Given the description of an element on the screen output the (x, y) to click on. 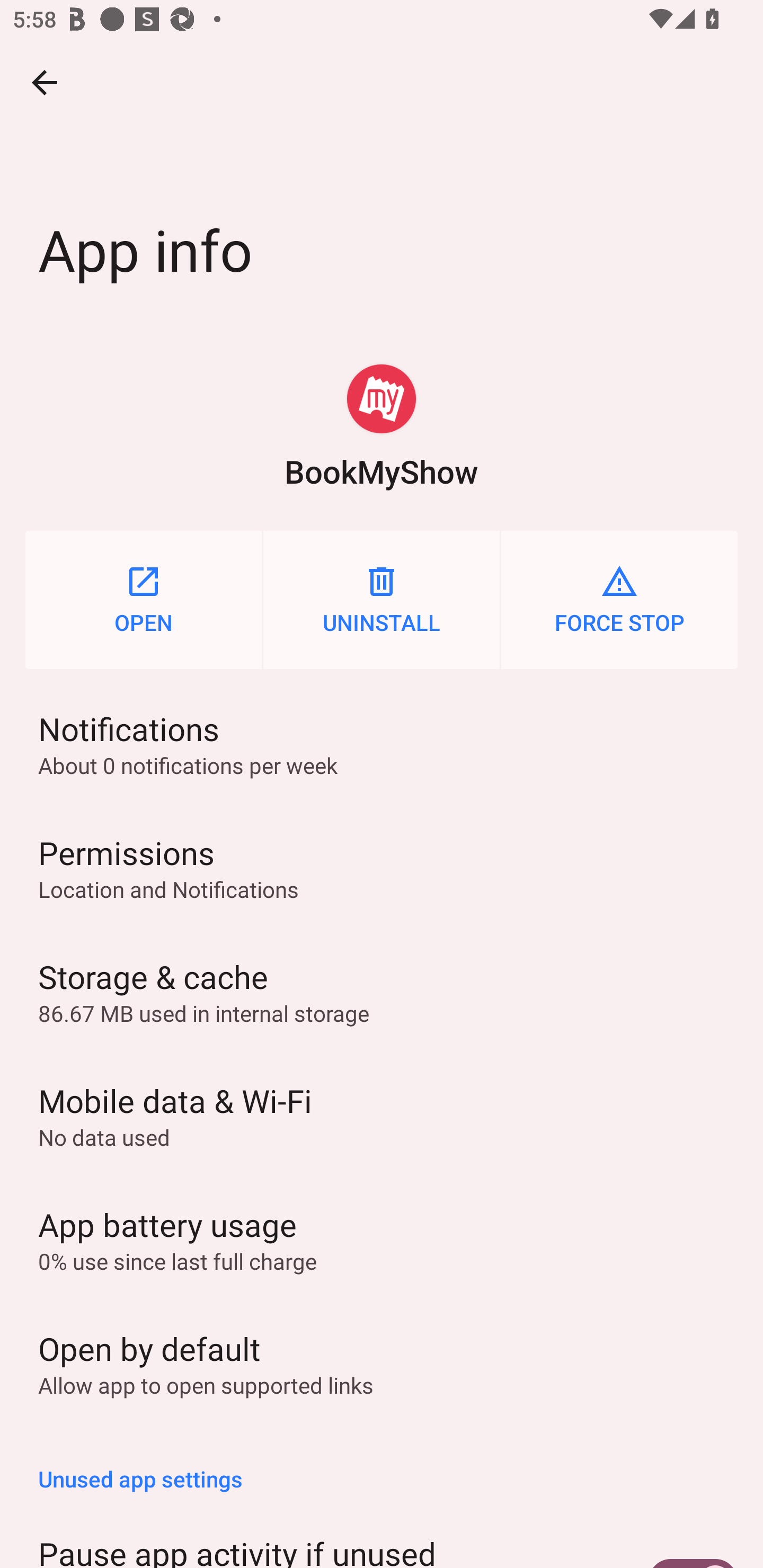
Navigate up (44, 82)
OPEN (143, 600)
UNINSTALL (381, 600)
FORCE STOP (619, 600)
Notifications About 0 notifications per week (381, 743)
Permissions Location and Notifications (381, 867)
Storage & cache 86.67 MB used in internal storage (381, 991)
Mobile data & Wi‑Fi No data used (381, 1115)
App battery usage 0% use since last full charge (381, 1239)
Open by default Allow app to open supported links (381, 1363)
Pause app activity if unused (381, 1537)
